Given the description of an element on the screen output the (x, y) to click on. 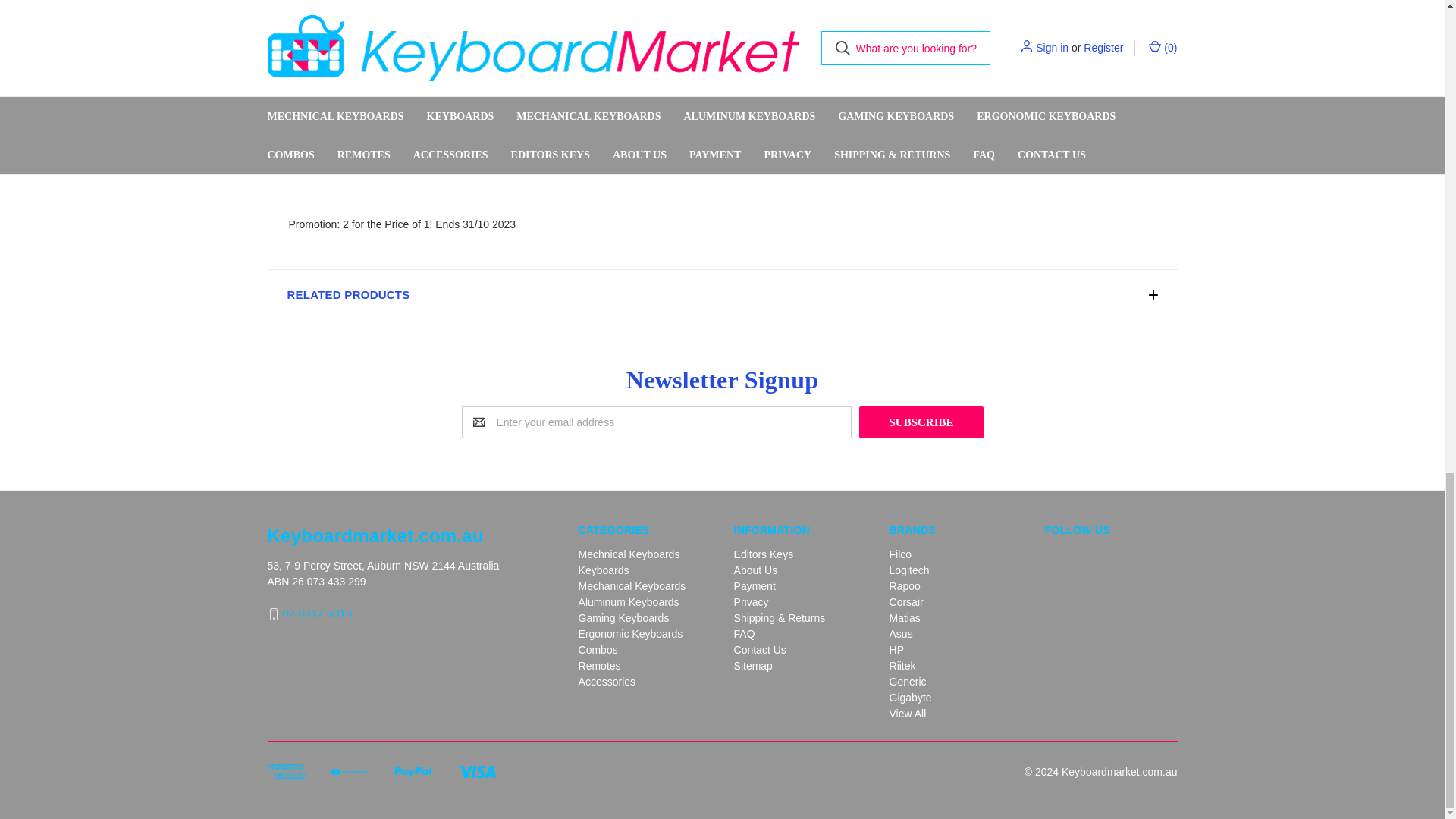
Subscribe (920, 422)
